Given the description of an element on the screen output the (x, y) to click on. 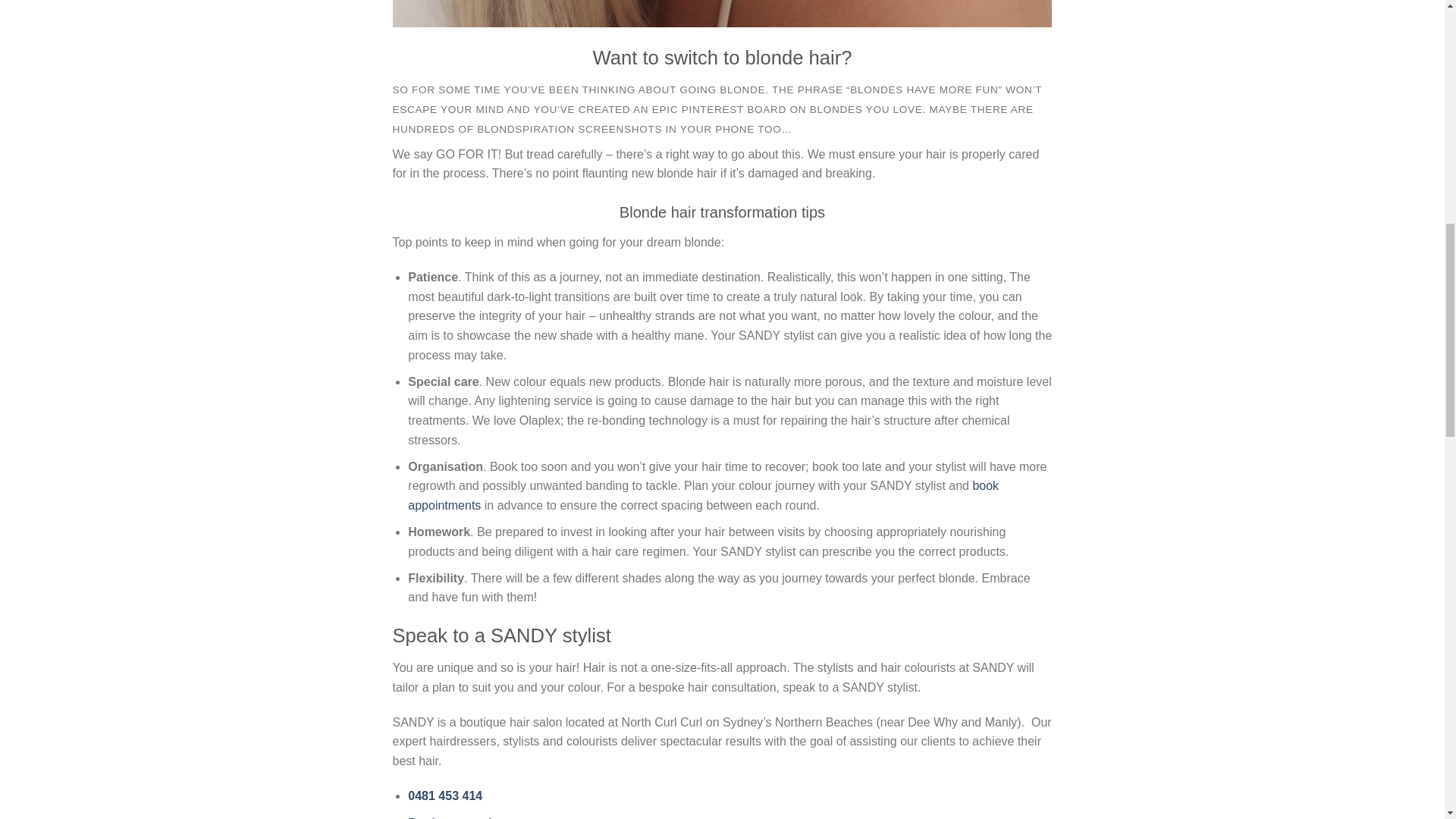
book appointments (702, 495)
0481 453 414 (444, 795)
Book an appointment (469, 817)
